Given the description of an element on the screen output the (x, y) to click on. 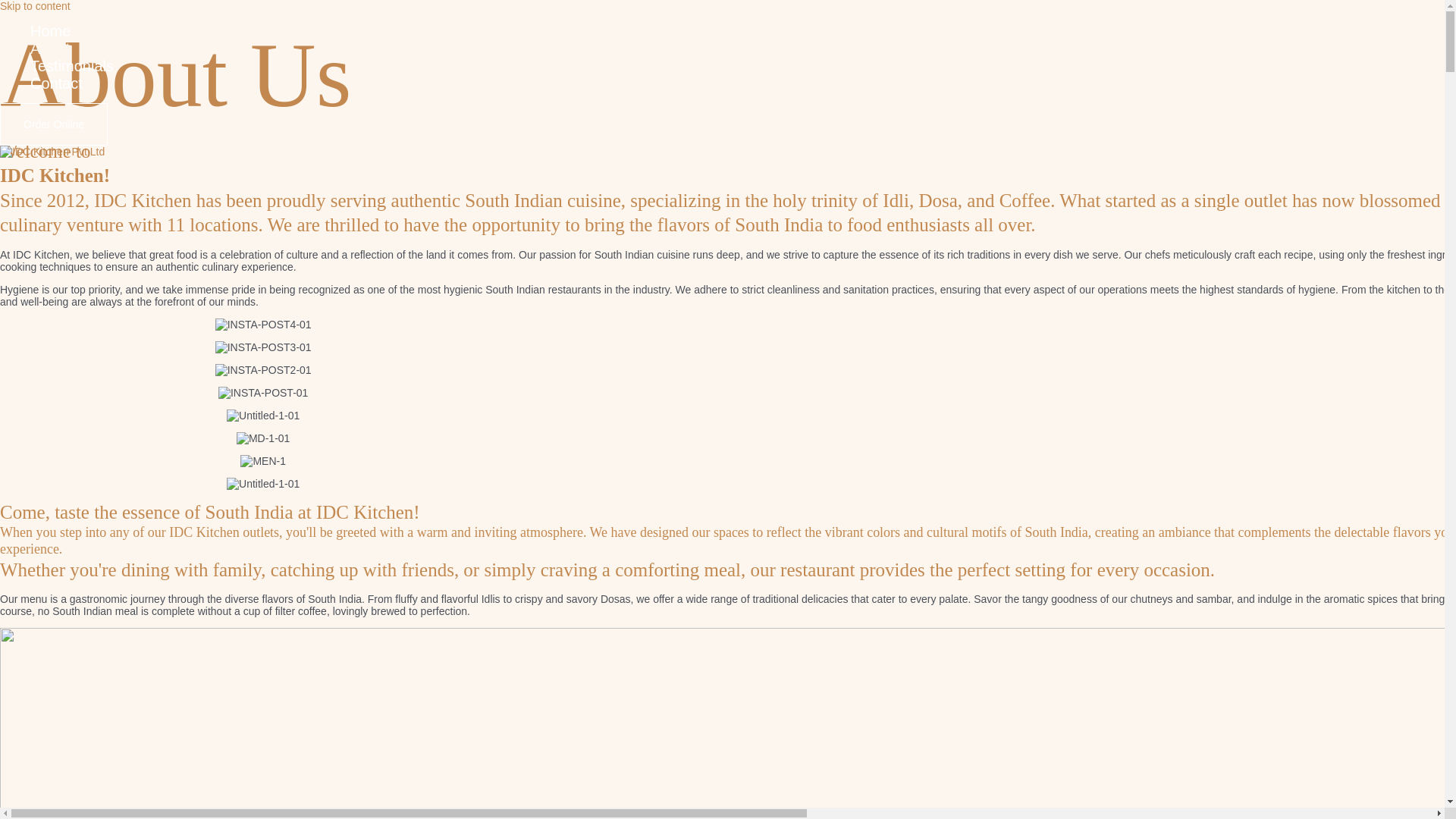
Home (71, 31)
Contact (71, 83)
Order Online (53, 124)
About (71, 48)
Skip to content (34, 6)
Skip to content (34, 6)
Testimonials (71, 66)
